Given the description of an element on the screen output the (x, y) to click on. 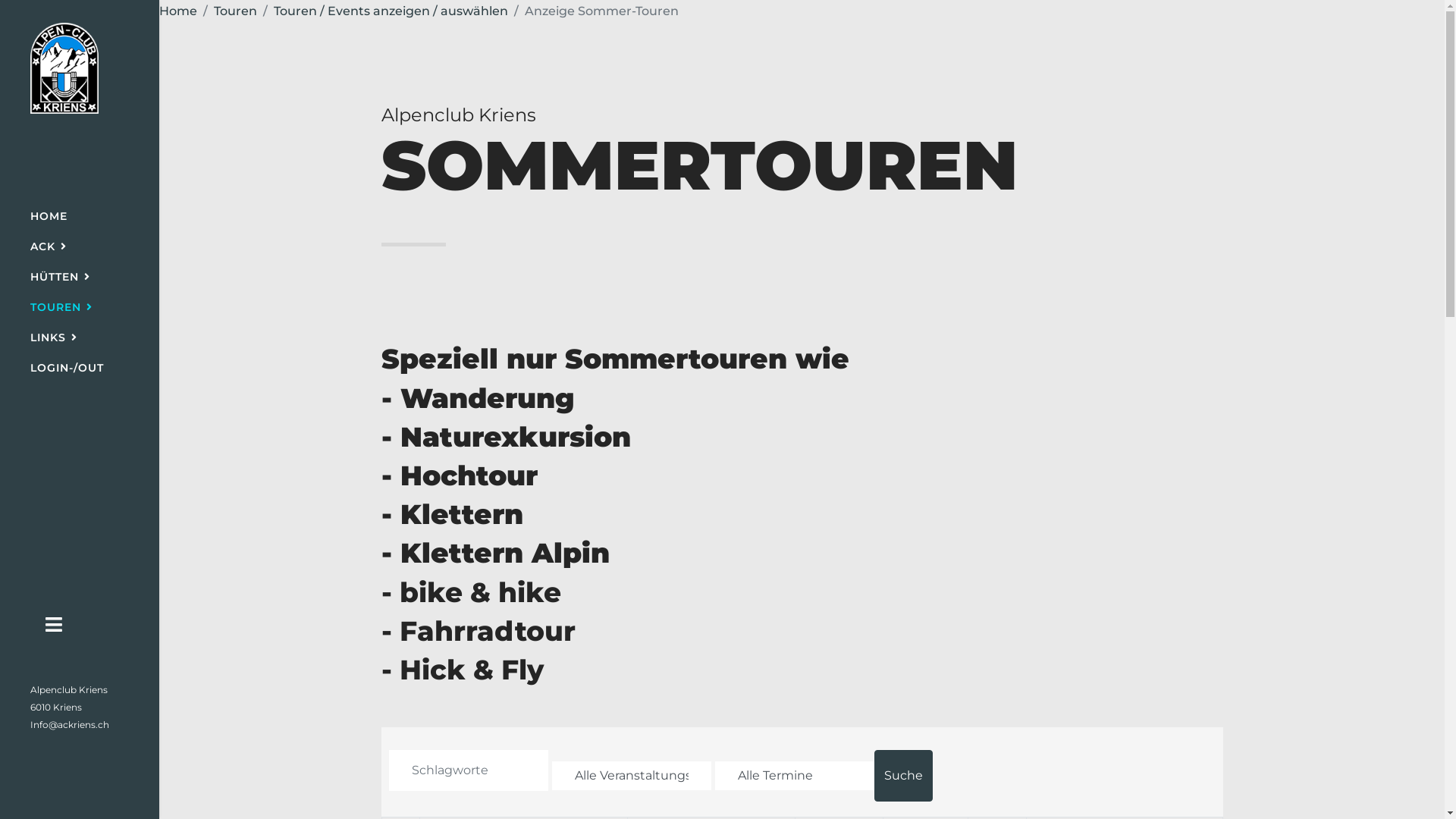
Info@ackriens.ch Element type: text (69, 724)
TOUREN Element type: text (61, 306)
6010 Kriens Element type: text (55, 706)
Touren Element type: text (235, 10)
Suche Element type: text (902, 775)
Alpenclub Kriens Element type: text (68, 689)
Navigation Element type: hover (53, 624)
LOGIN-/OUT Element type: text (66, 367)
ACK Element type: text (48, 246)
LINKS Element type: text (53, 337)
Home Element type: text (178, 10)
HOME Element type: text (48, 215)
